Given the description of an element on the screen output the (x, y) to click on. 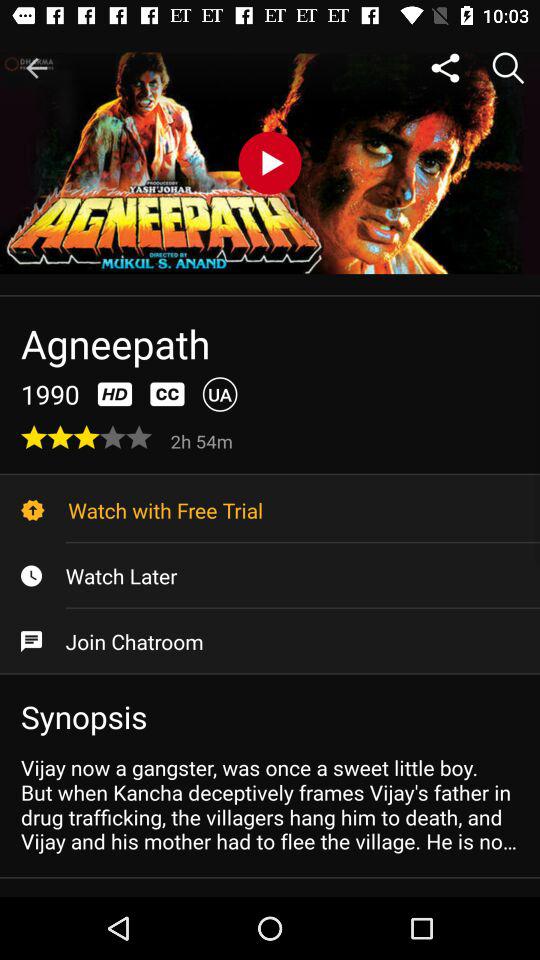
choose icon at the top left corner (36, 68)
